Given the description of an element on the screen output the (x, y) to click on. 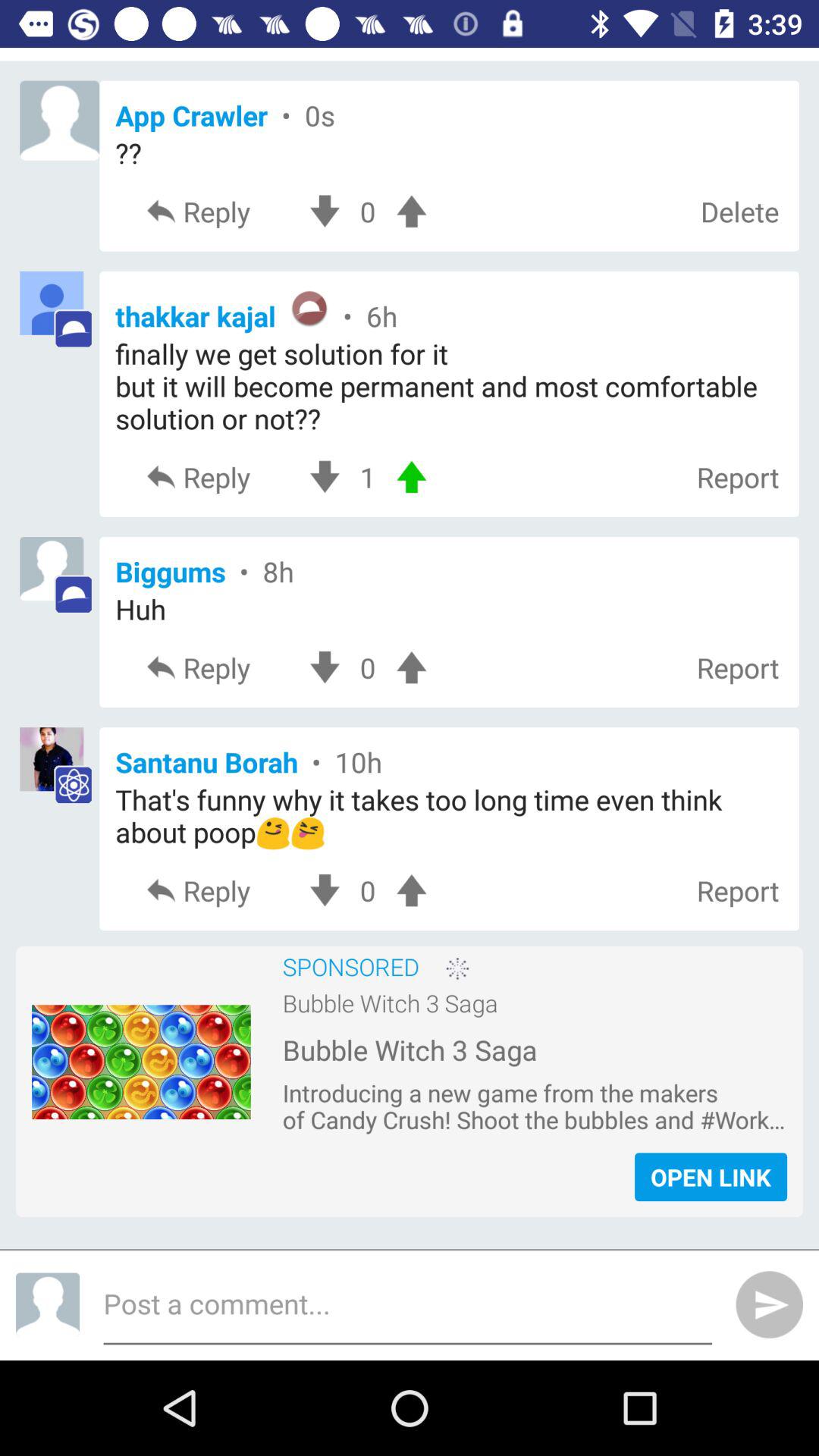
go to the text called delete (739, 211)
select the text thakkar kajal (448, 310)
click the text next to the fourth image (448, 761)
click on the fourth text image (59, 766)
select the up arrow located in biggums messege (410, 666)
select the icon beside the post (47, 1304)
